Given the description of an element on the screen output the (x, y) to click on. 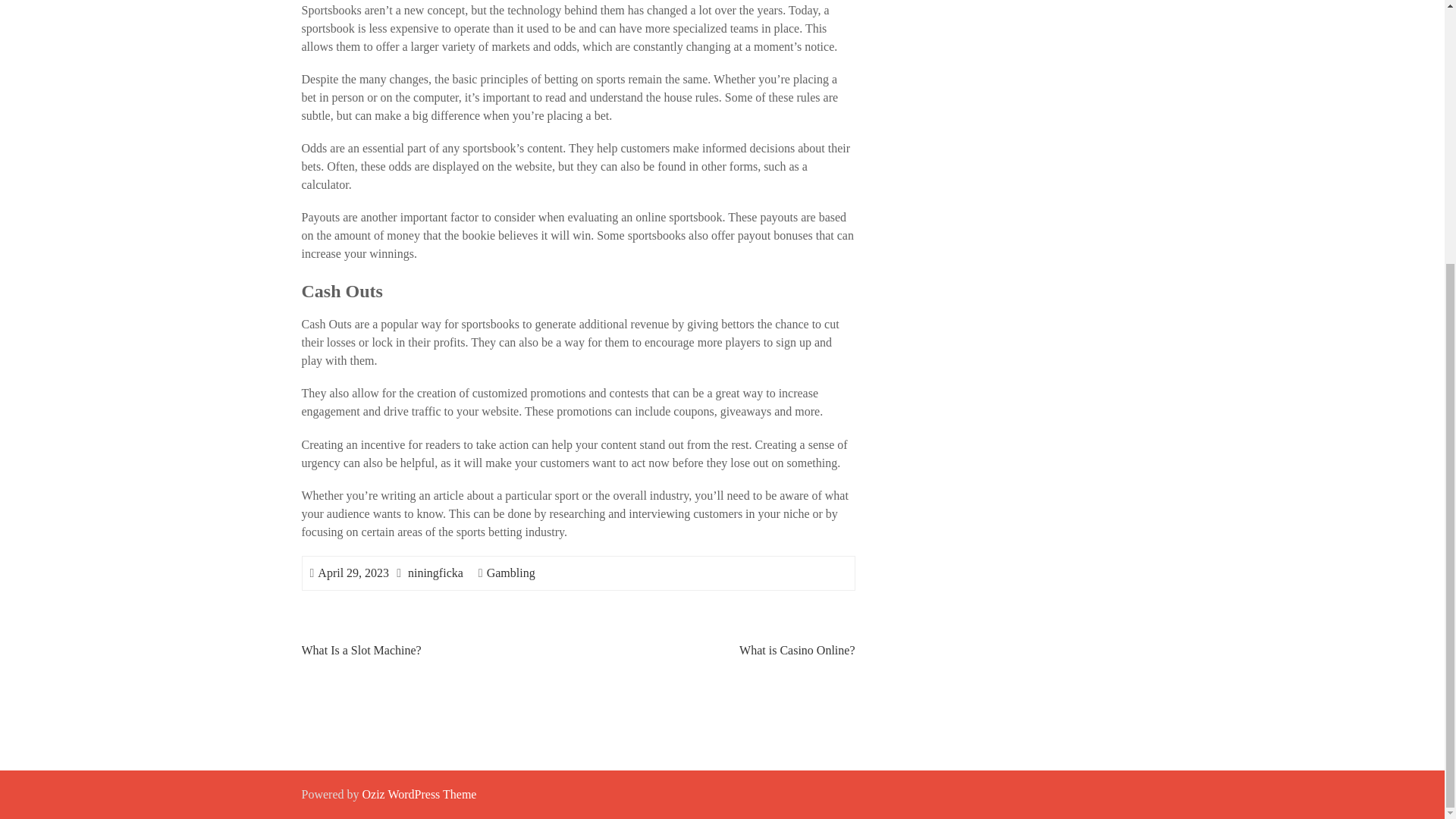
Oziz WordPress Theme (418, 793)
What is Casino Online? (796, 649)
Gambling (510, 572)
niningficka (435, 572)
April 29, 2023 (352, 572)
What Is a Slot Machine? (361, 649)
